Given the description of an element on the screen output the (x, y) to click on. 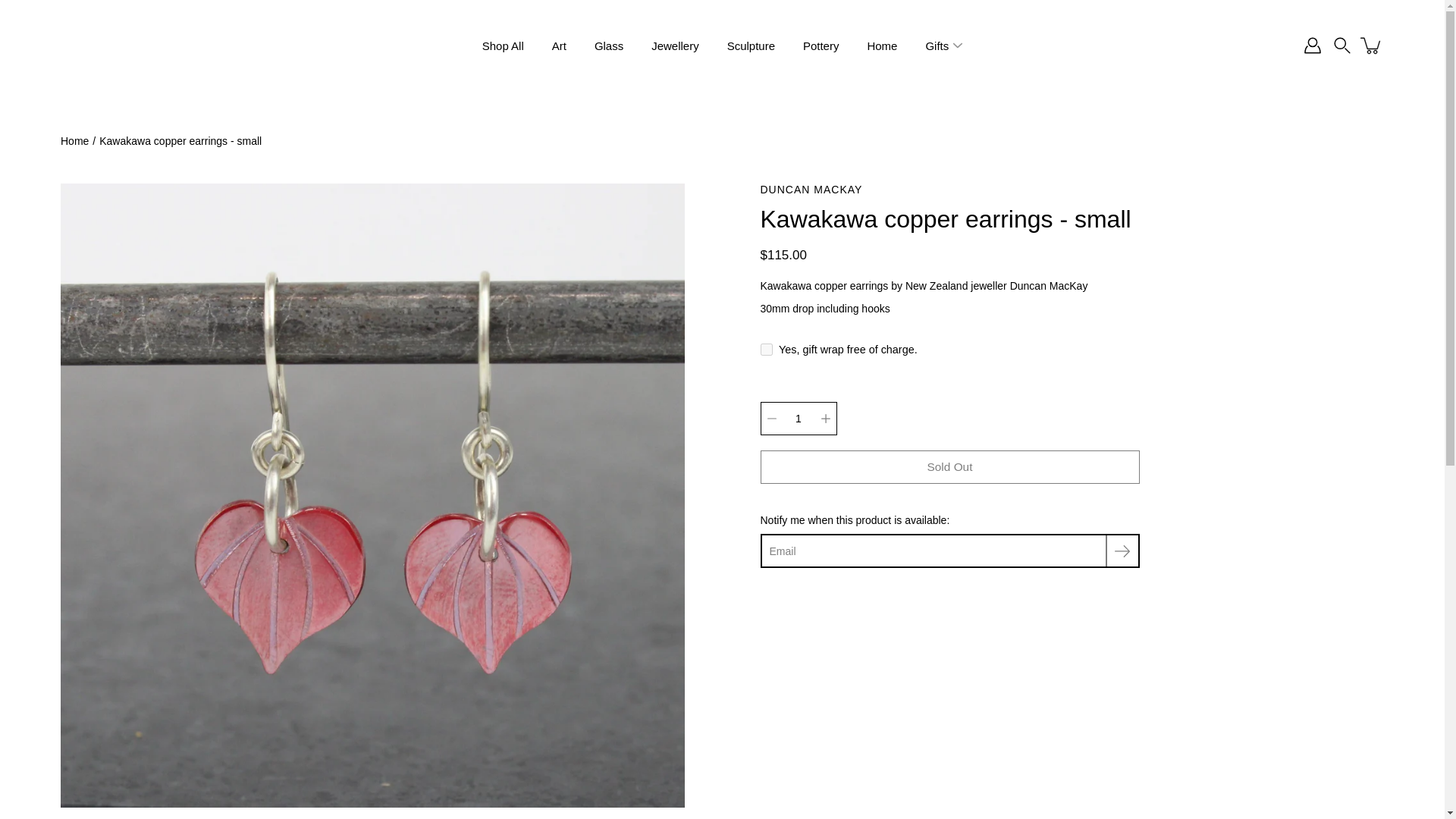
DUNCAN MACKAY (949, 189)
Home (881, 45)
Glass (608, 45)
Back to the Homepage (74, 141)
Sculpture (750, 45)
Pottery (820, 45)
Sold Out (949, 467)
Jewellery (674, 45)
Shop All (502, 45)
